Given the description of an element on the screen output the (x, y) to click on. 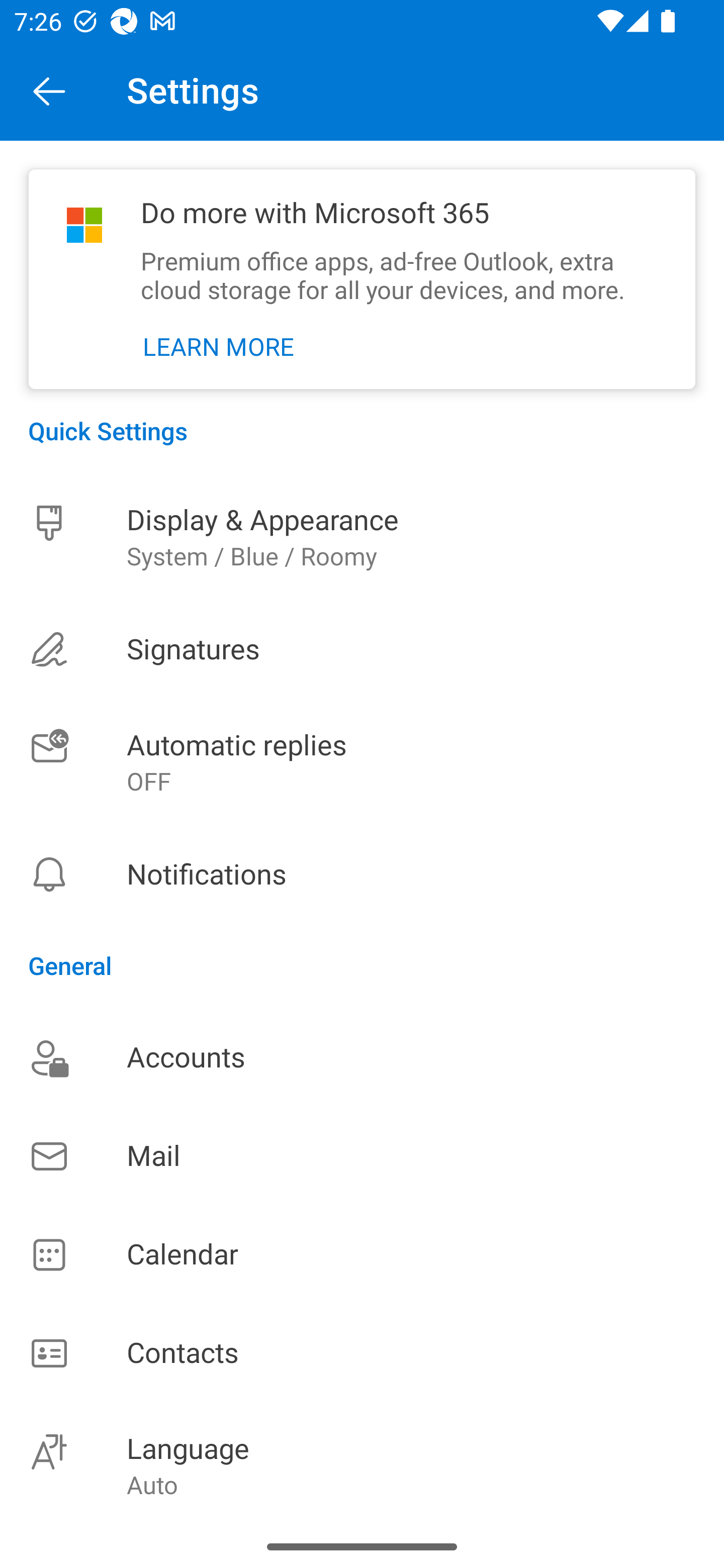
Back (49, 90)
LEARN MORE (218, 346)
Display & Appearance System / Blue / Roomy (362, 536)
Signatures (362, 649)
Automatic replies OFF (362, 762)
Notifications (362, 874)
Accounts (362, 1057)
Mail (362, 1156)
Calendar (362, 1254)
Contacts (362, 1353)
Language Auto (362, 1464)
